Given the description of an element on the screen output the (x, y) to click on. 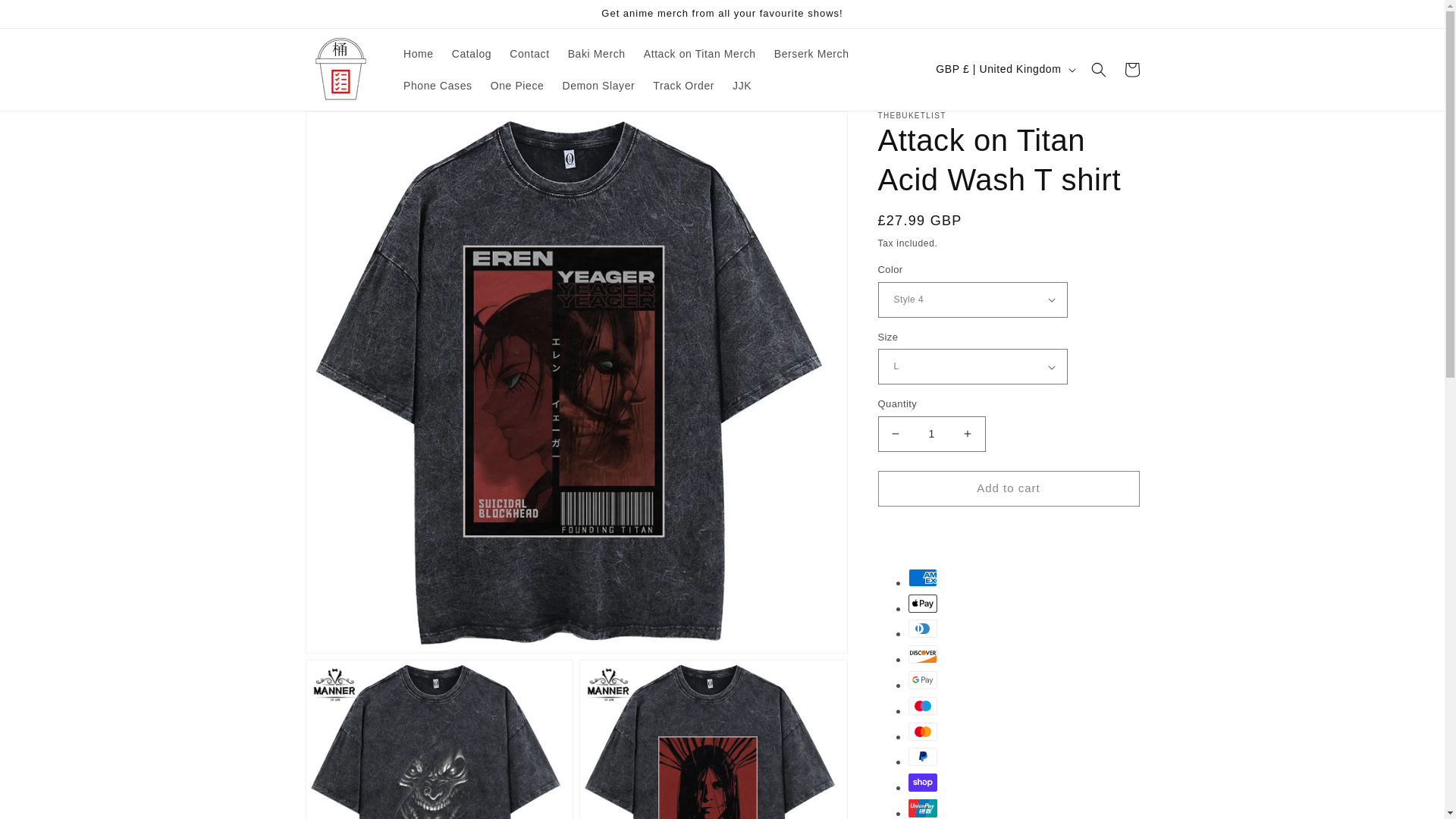
Track Order (683, 85)
Contact (528, 53)
Berserk Merch (812, 53)
Skip to product information (350, 128)
One Piece (517, 85)
Attack on Titan Merch (699, 53)
Discover (922, 654)
Google Pay (922, 679)
Skip to content (45, 17)
Cart (1131, 69)
